Given the description of an element on the screen output the (x, y) to click on. 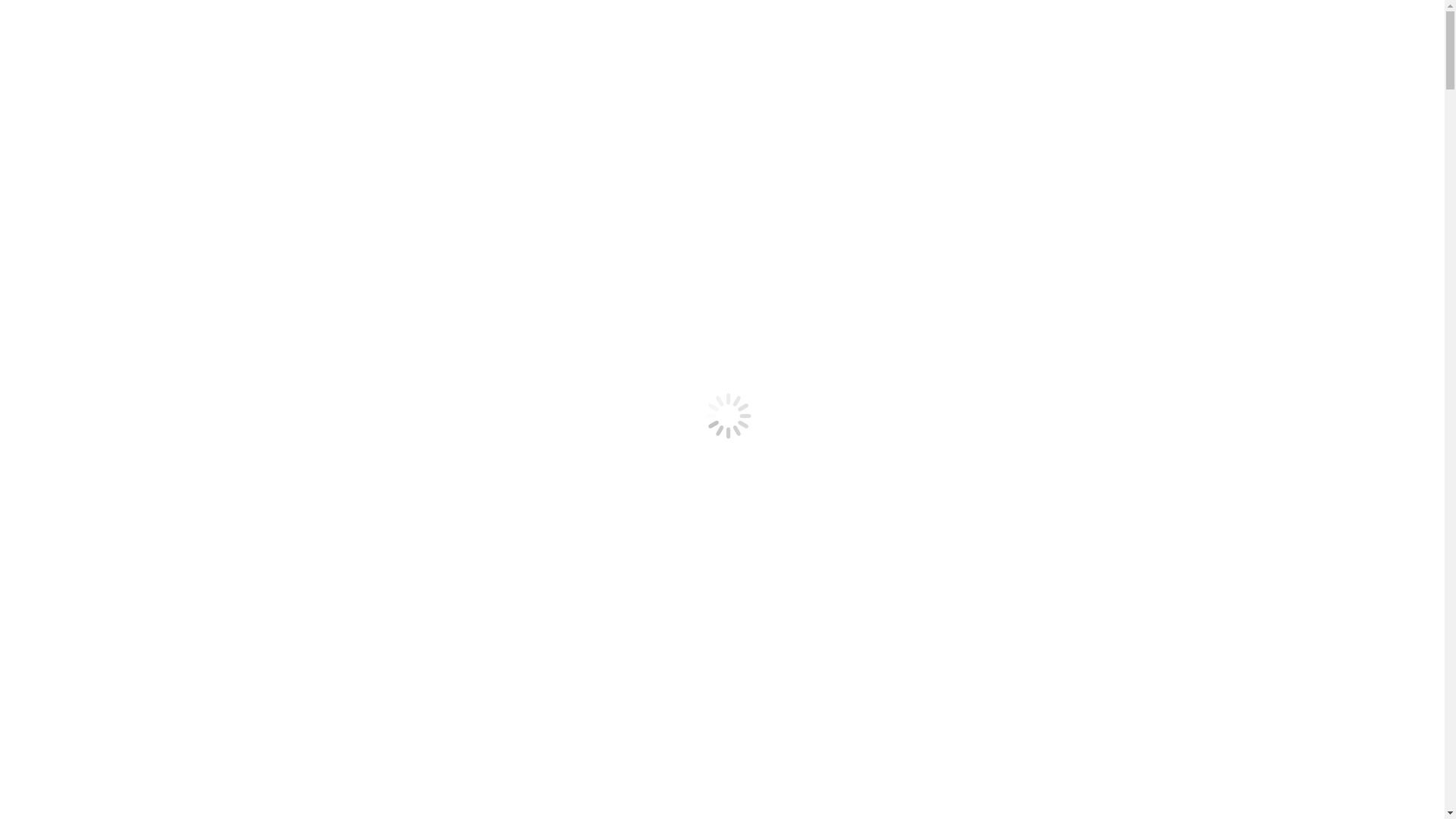
+37544 5530303 Element type: text (132, 37)
Instagram Element type: text (30, 142)
Facebook Element type: text (130, 142)
+37529 5530303 Element type: text (47, 37)
